Given the description of an element on the screen output the (x, y) to click on. 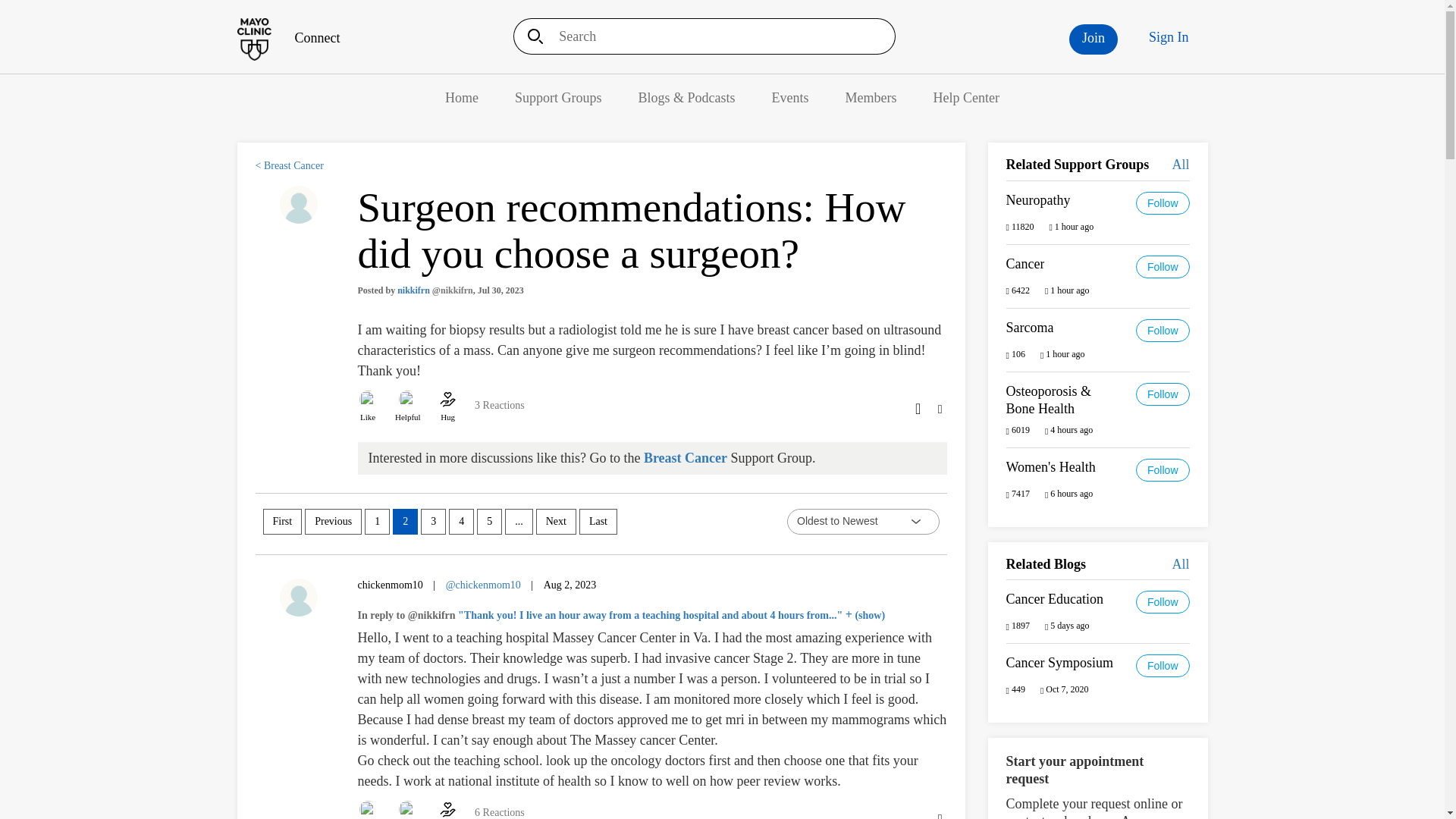
Help Center (965, 97)
First (281, 521)
Home (462, 97)
4 (461, 521)
Join (1093, 39)
3 (432, 521)
Support Groups (558, 97)
Events (790, 97)
Support Groups (558, 97)
Events (790, 97)
Home (287, 37)
Search (530, 36)
Members (870, 97)
1 (377, 521)
Home (462, 97)
